Given the description of an element on the screen output the (x, y) to click on. 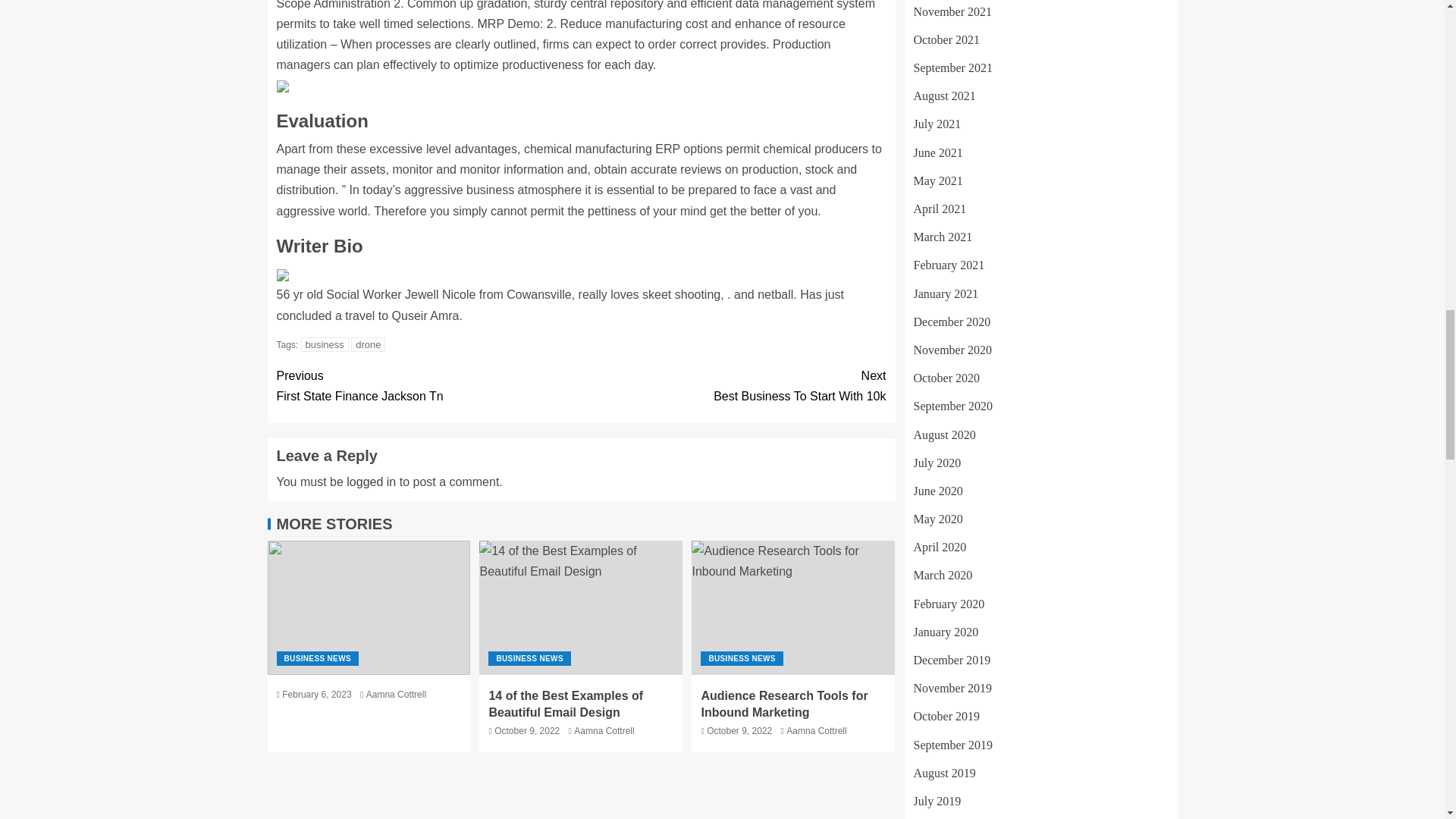
BUSINESS NEWS (317, 658)
business (325, 344)
logged in (732, 385)
14 of the Best Examples of Beautiful Email Design (428, 385)
drone (371, 481)
Audience Research Tools for Inbound Marketing (580, 607)
